Given the description of an element on the screen output the (x, y) to click on. 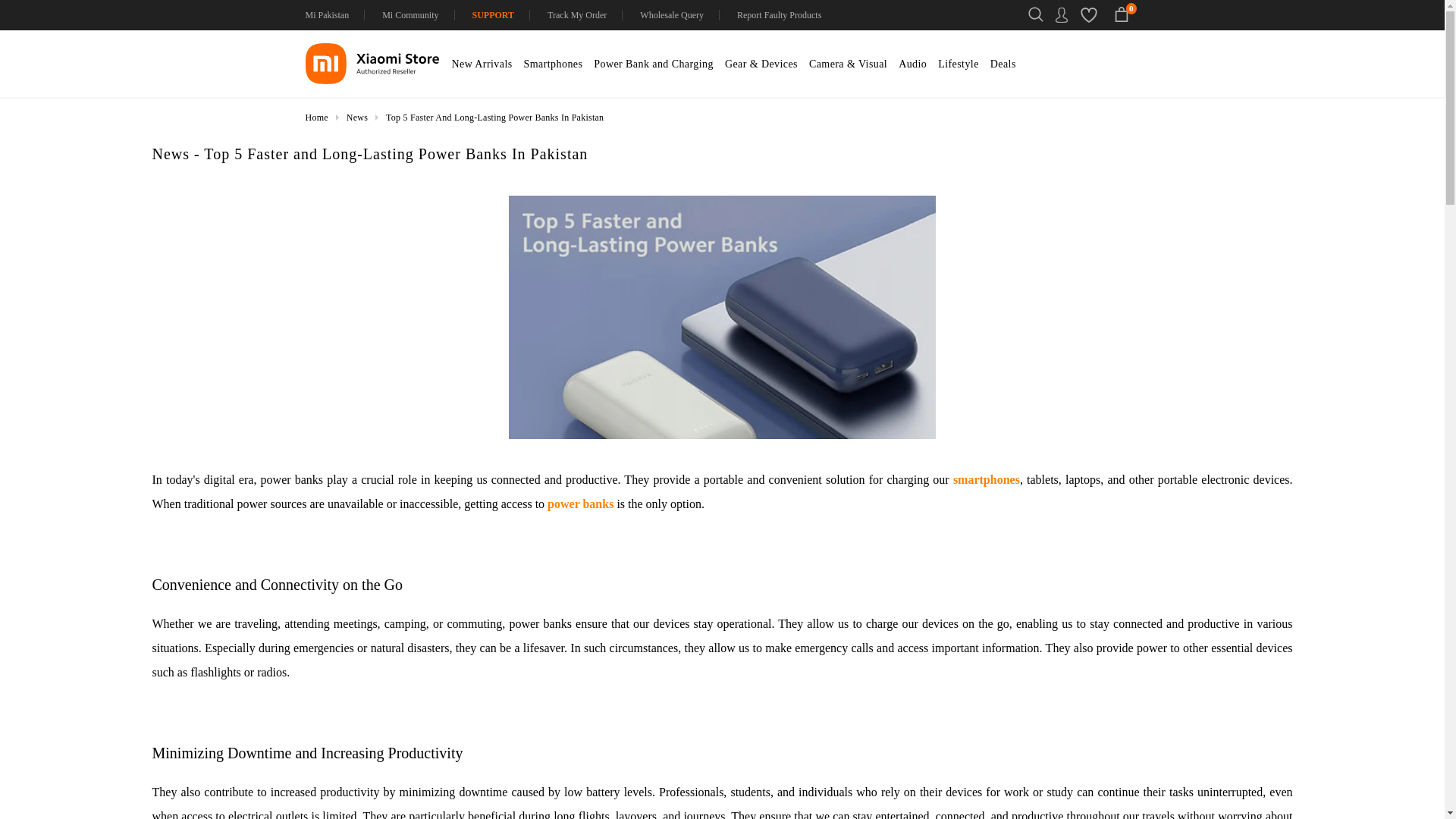
0 (1122, 16)
Mi Pakistan (334, 14)
Smartphones (553, 71)
Track My Order (577, 14)
Wholesale Query (671, 14)
Opens a widget where you can find more information (1386, 792)
SUPPORT (494, 14)
New Arrivals (481, 71)
Report Faulty Products (778, 14)
Mi Community (410, 14)
